Given the description of an element on the screen output the (x, y) to click on. 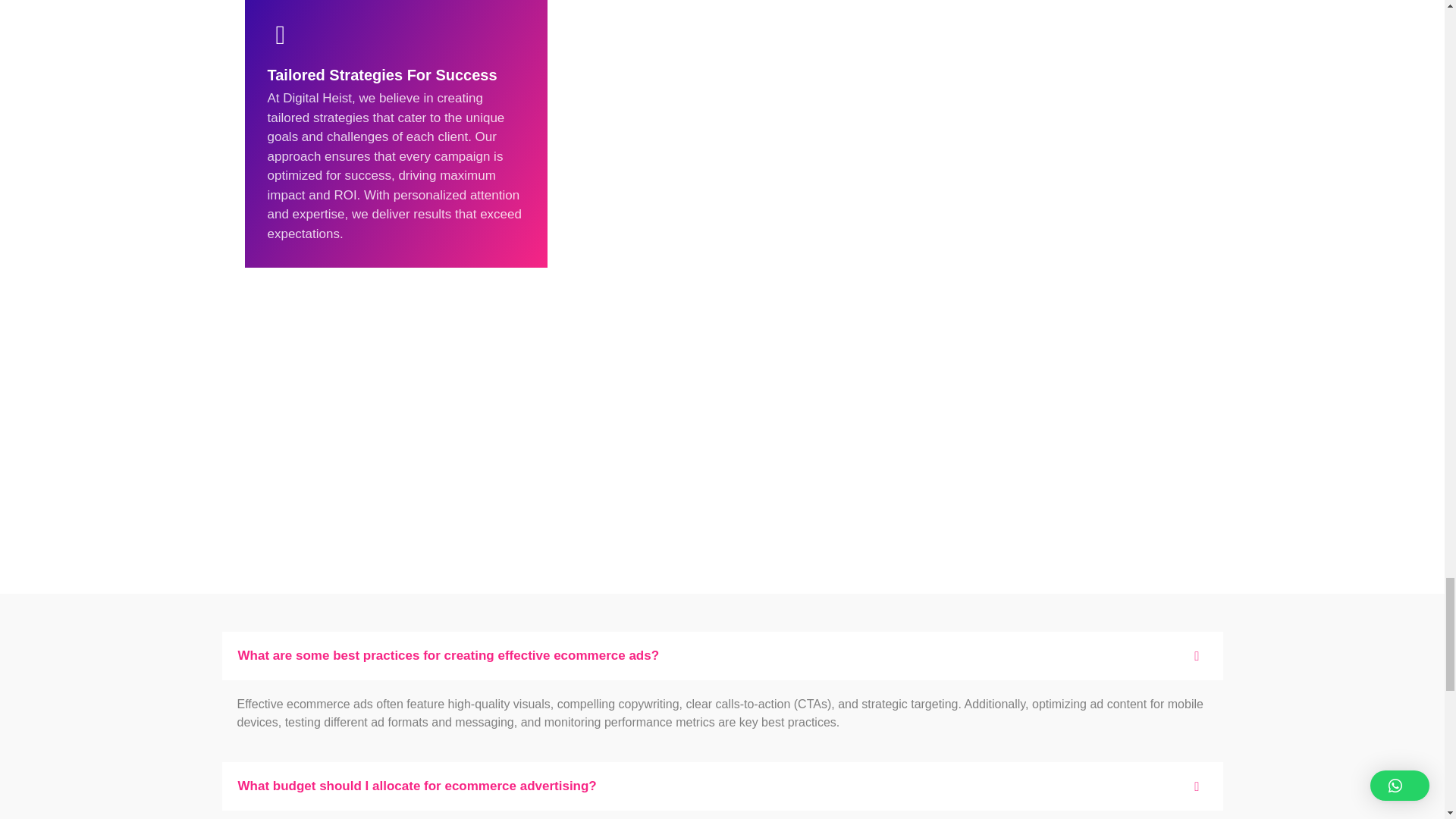
What budget should I allocate for ecommerce advertising? (722, 786)
